Given the description of an element on the screen output the (x, y) to click on. 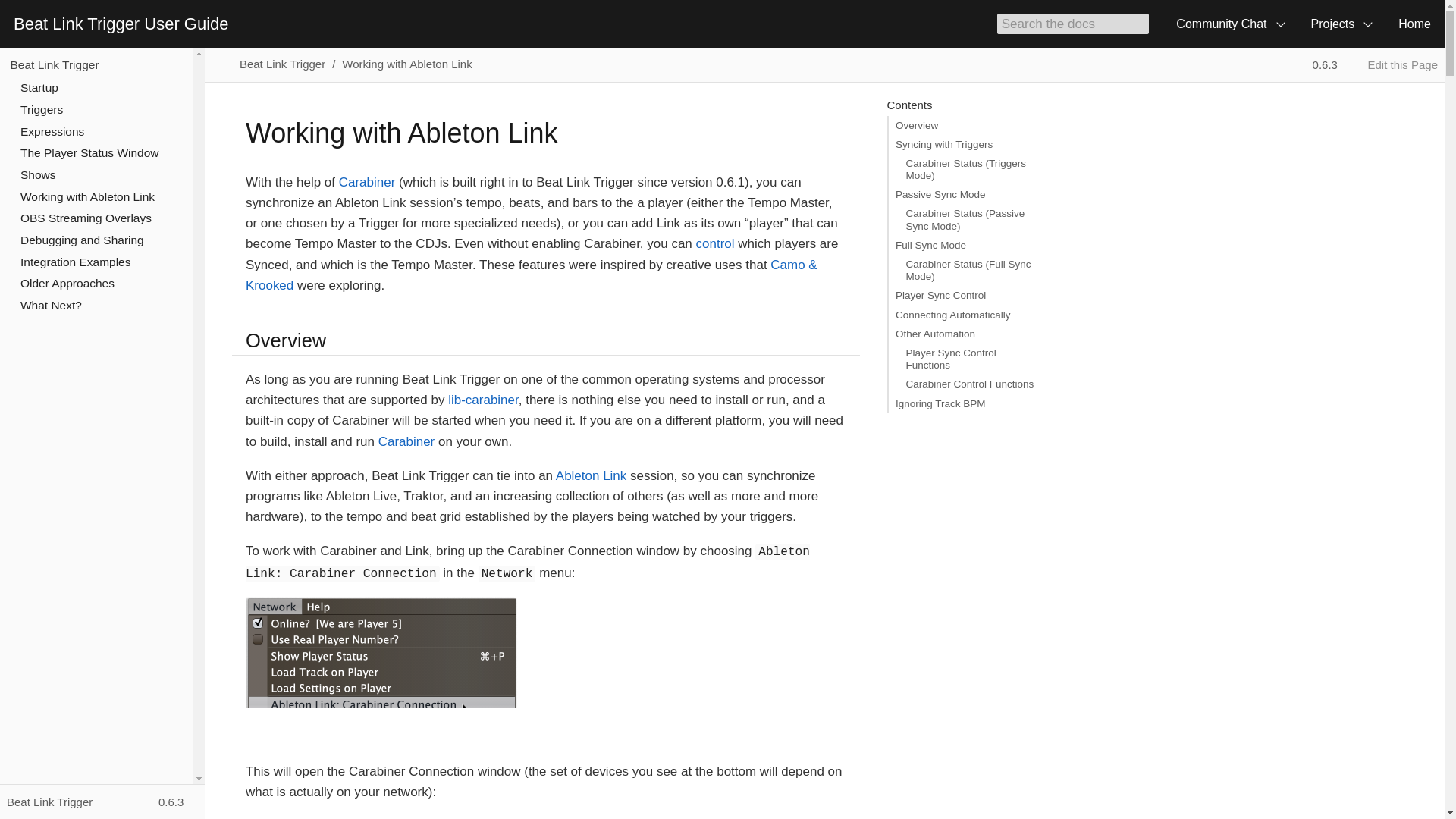
Beat Link Trigger (54, 64)
Community Chat (1229, 23)
Show other versions of page (1332, 64)
Expressions (52, 131)
Startup (39, 87)
Triggers (41, 109)
Beat Link Trigger User Guide (120, 23)
Projects (1341, 23)
The Player Status Window (89, 152)
